Given the description of an element on the screen output the (x, y) to click on. 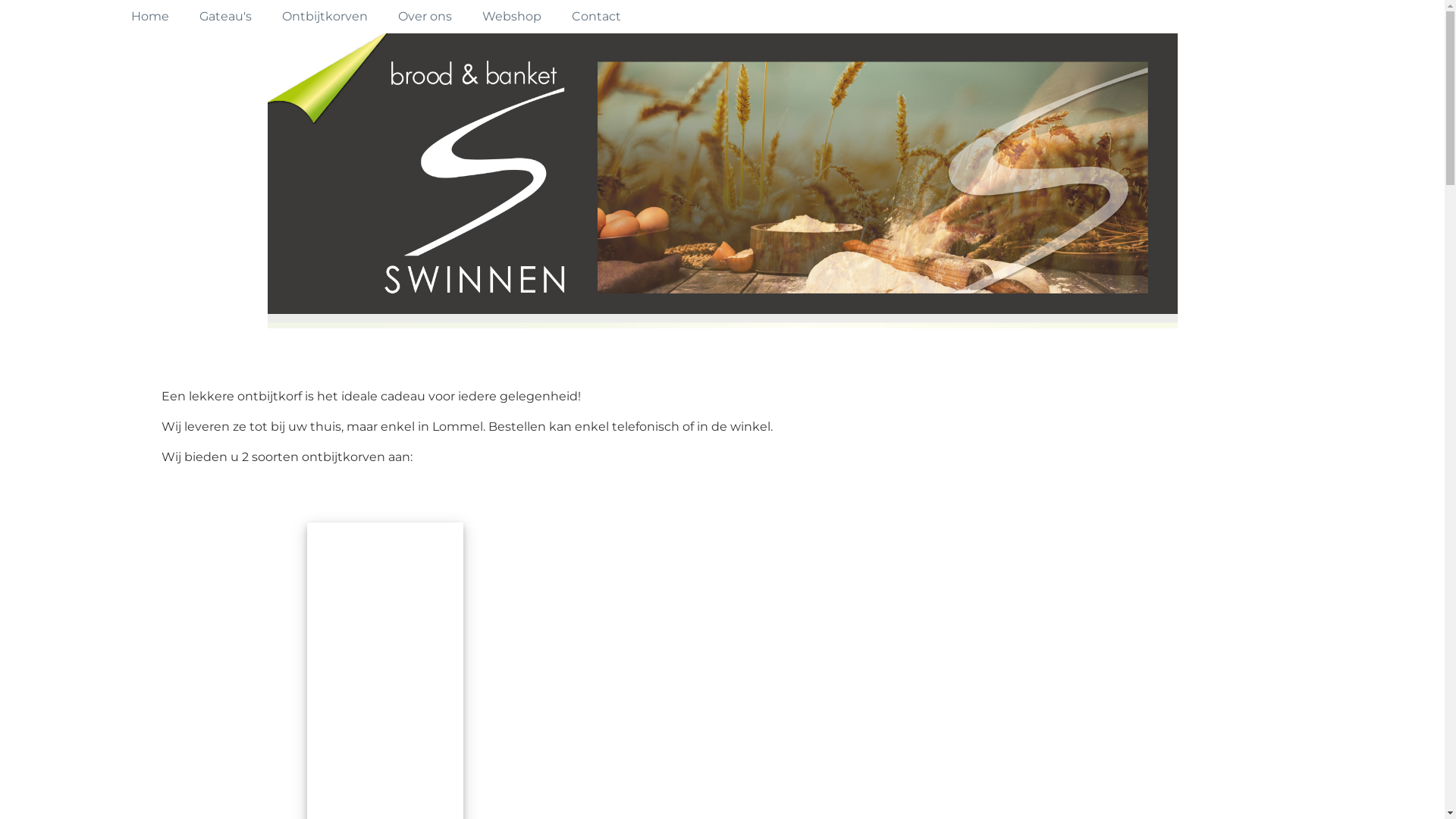
Gateau's Element type: text (224, 16)
Home Element type: text (149, 16)
Ontbijtkorven Element type: text (324, 16)
Contact Element type: text (596, 16)
Over ons Element type: text (424, 16)
Skip to main content Element type: text (0, 0)
Webshop Element type: text (511, 16)
